Given the description of an element on the screen output the (x, y) to click on. 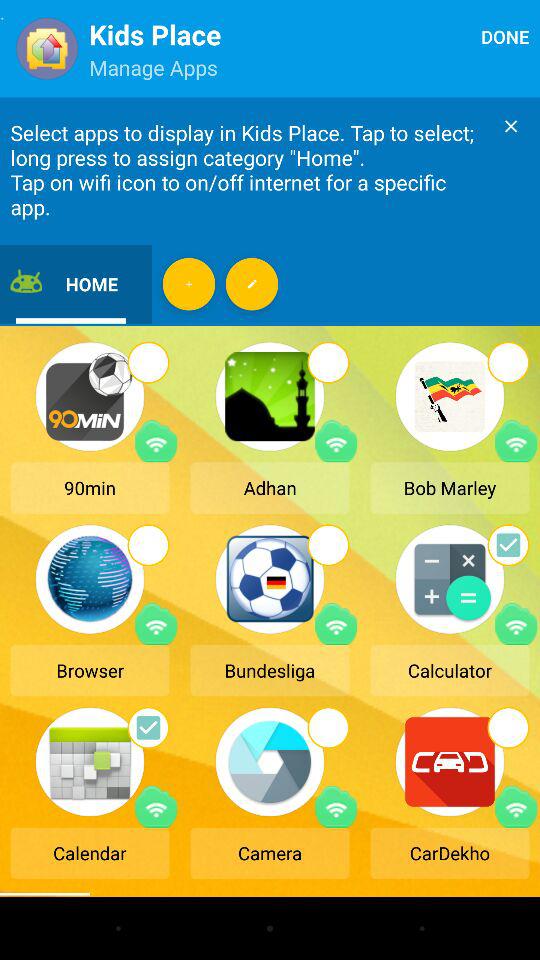
close message (511, 126)
